Given the description of an element on the screen output the (x, y) to click on. 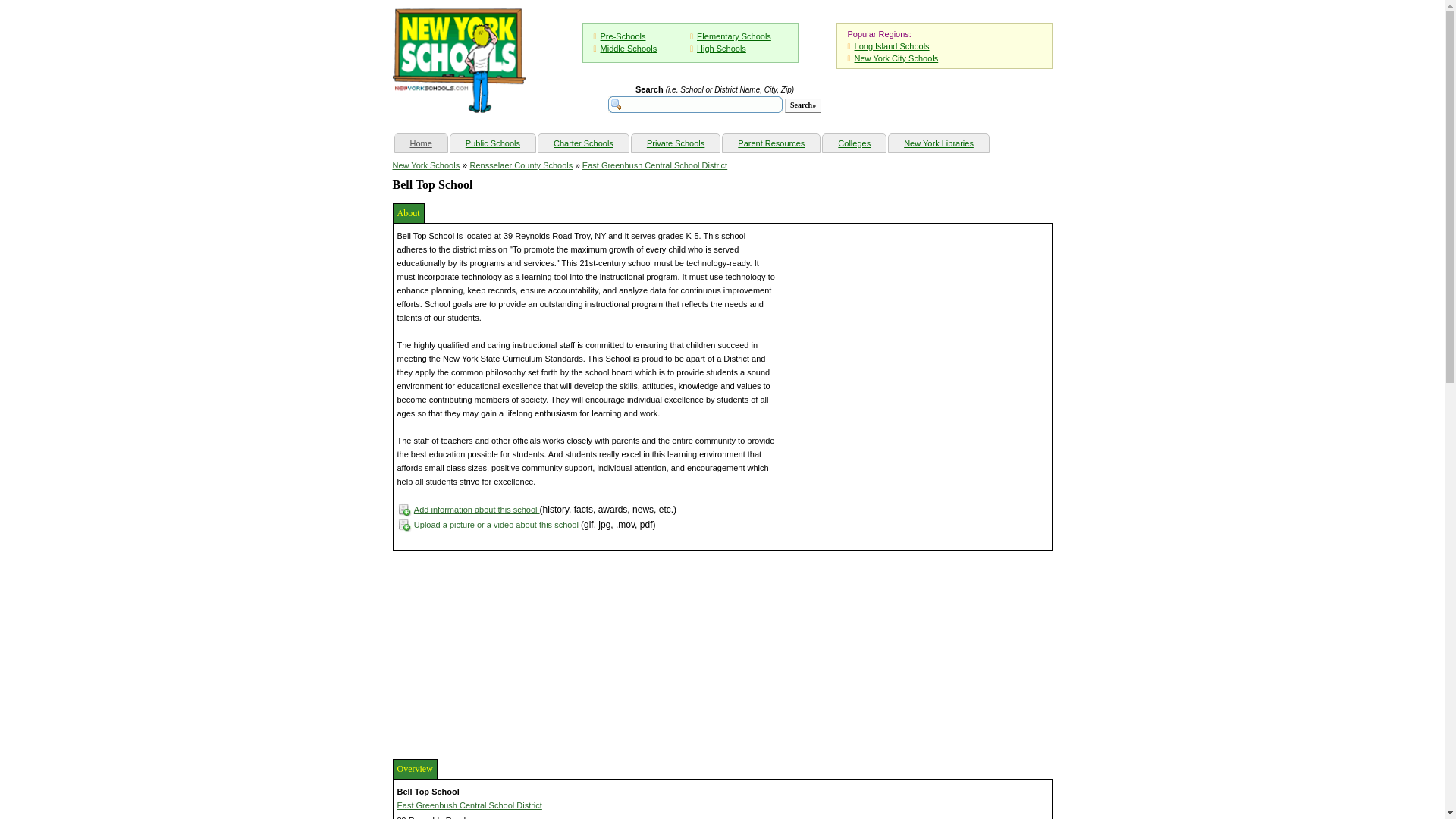
East Greenbush Central School District Schools (654, 164)
Elementary Schools (734, 35)
Colleges (853, 143)
Middle Schools (628, 48)
Parent Resources (770, 143)
Public Schools (492, 143)
New York Libraries (938, 143)
East Greenbush Central School District (469, 804)
Advertisement (506, 652)
High Schools (721, 48)
Upload a picture or a video about this school (496, 524)
Rensselaer County Schools (521, 164)
Charter Schools (583, 143)
Add information about this school (476, 509)
Pre-Schools (622, 35)
